Given the description of an element on the screen output the (x, y) to click on. 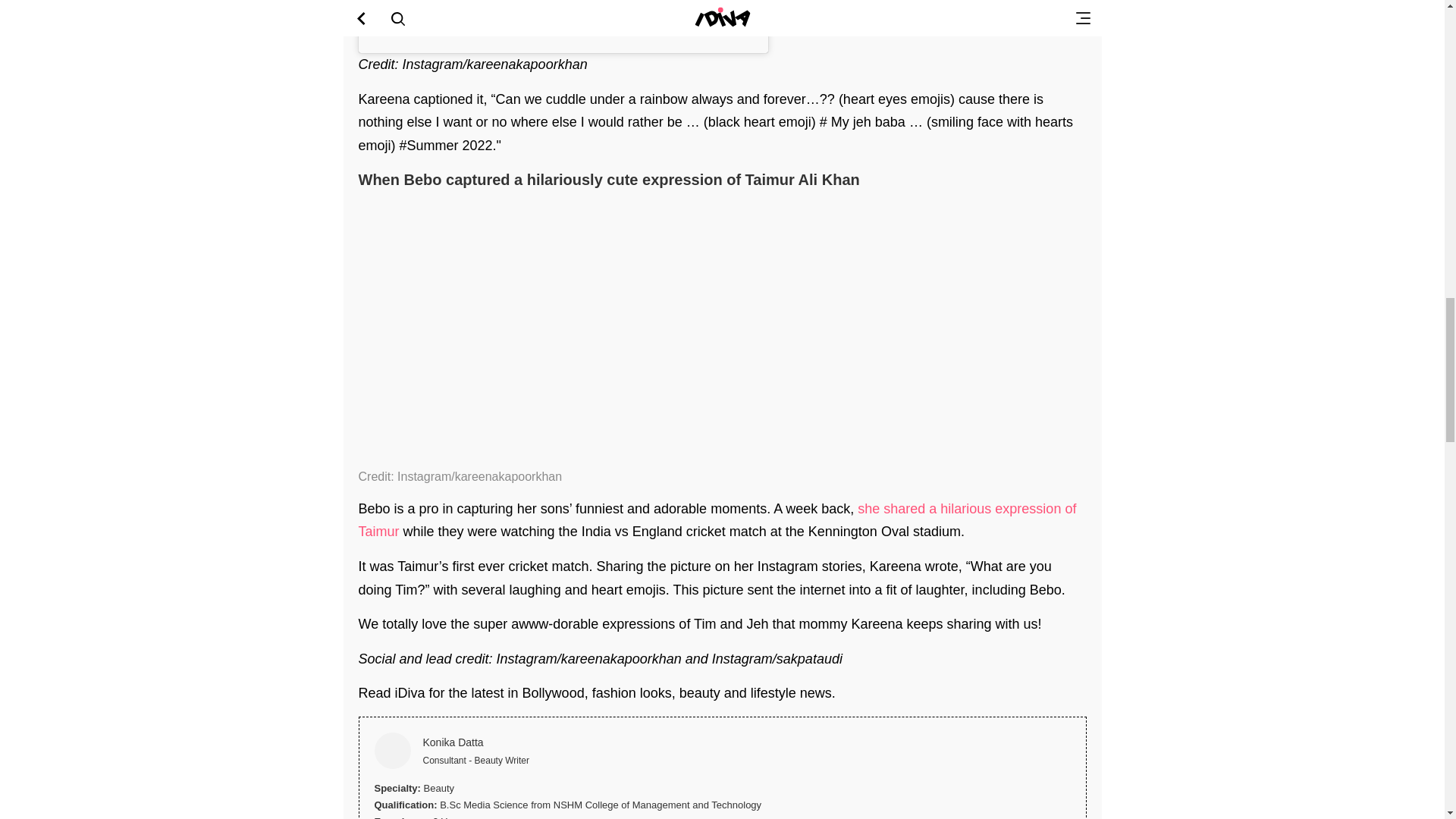
she shared a hilarious expression of Taimur (716, 520)
View this post on Instagram (562, 20)
Konika Datta (932, 743)
